Given the description of an element on the screen output the (x, y) to click on. 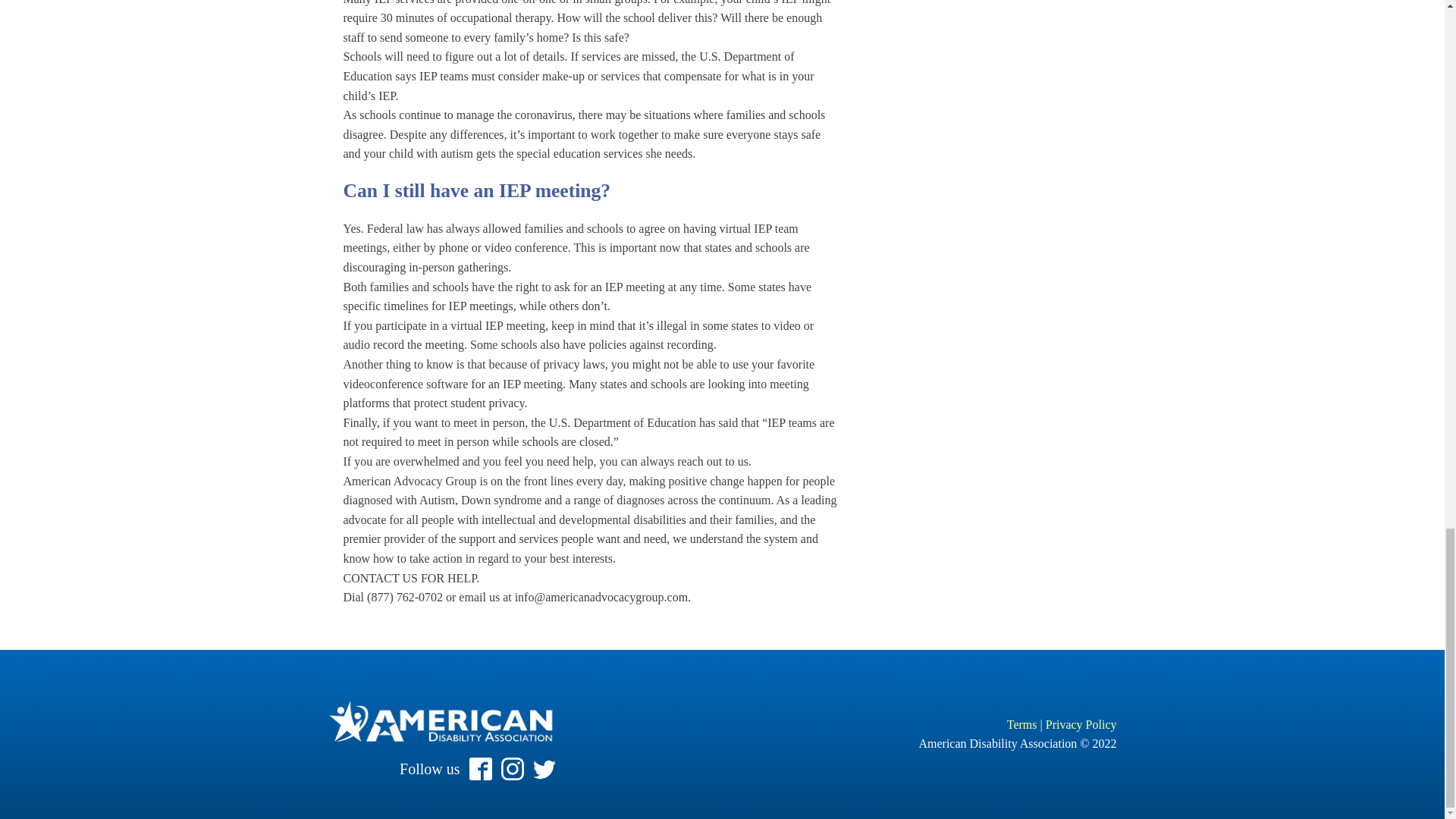
Terms (1021, 724)
Privacy Policy (1080, 724)
